Given the description of an element on the screen output the (x, y) to click on. 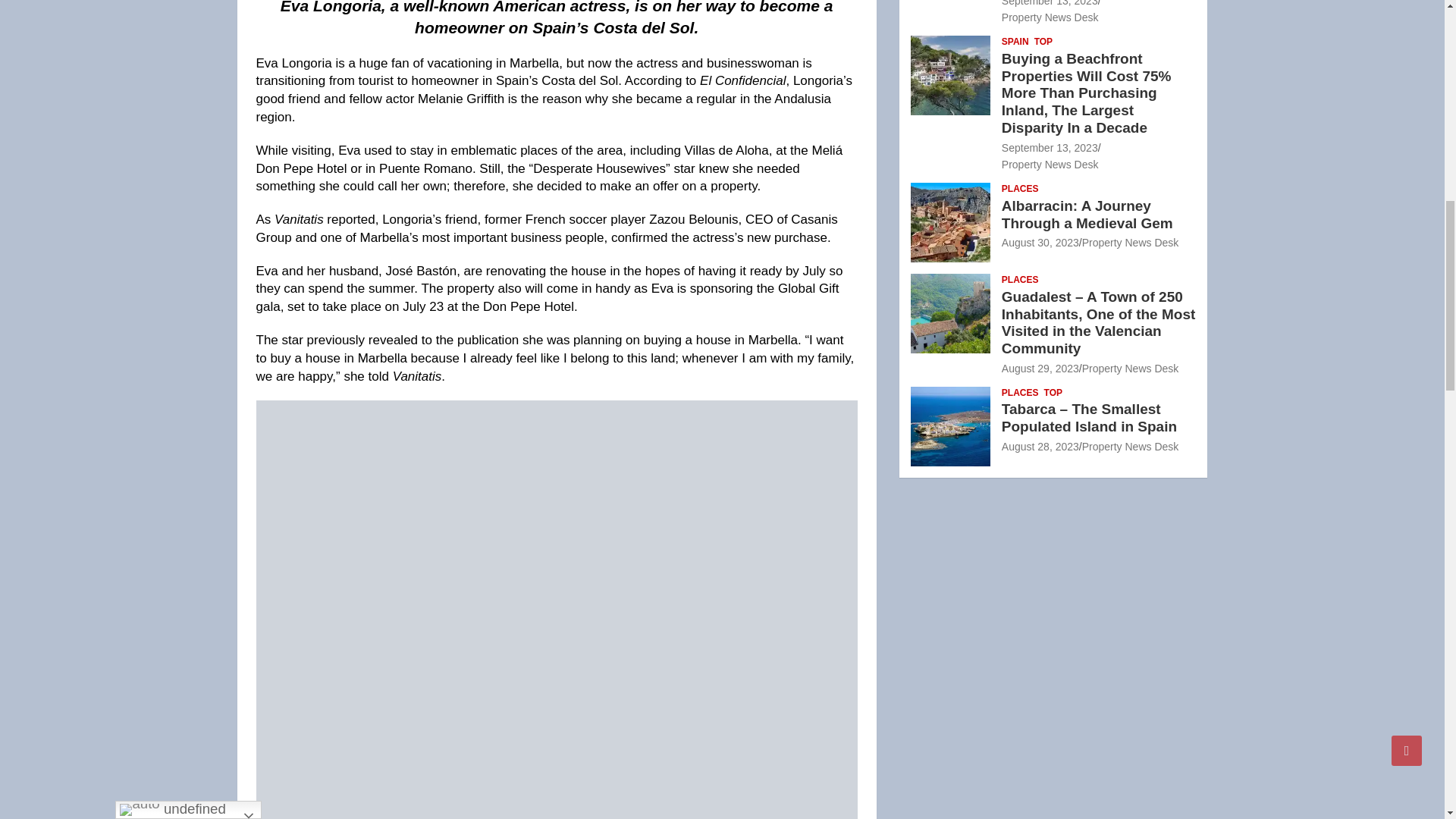
Albarracin: A Journey Through a Medieval Gem (1039, 242)
